Given the description of an element on the screen output the (x, y) to click on. 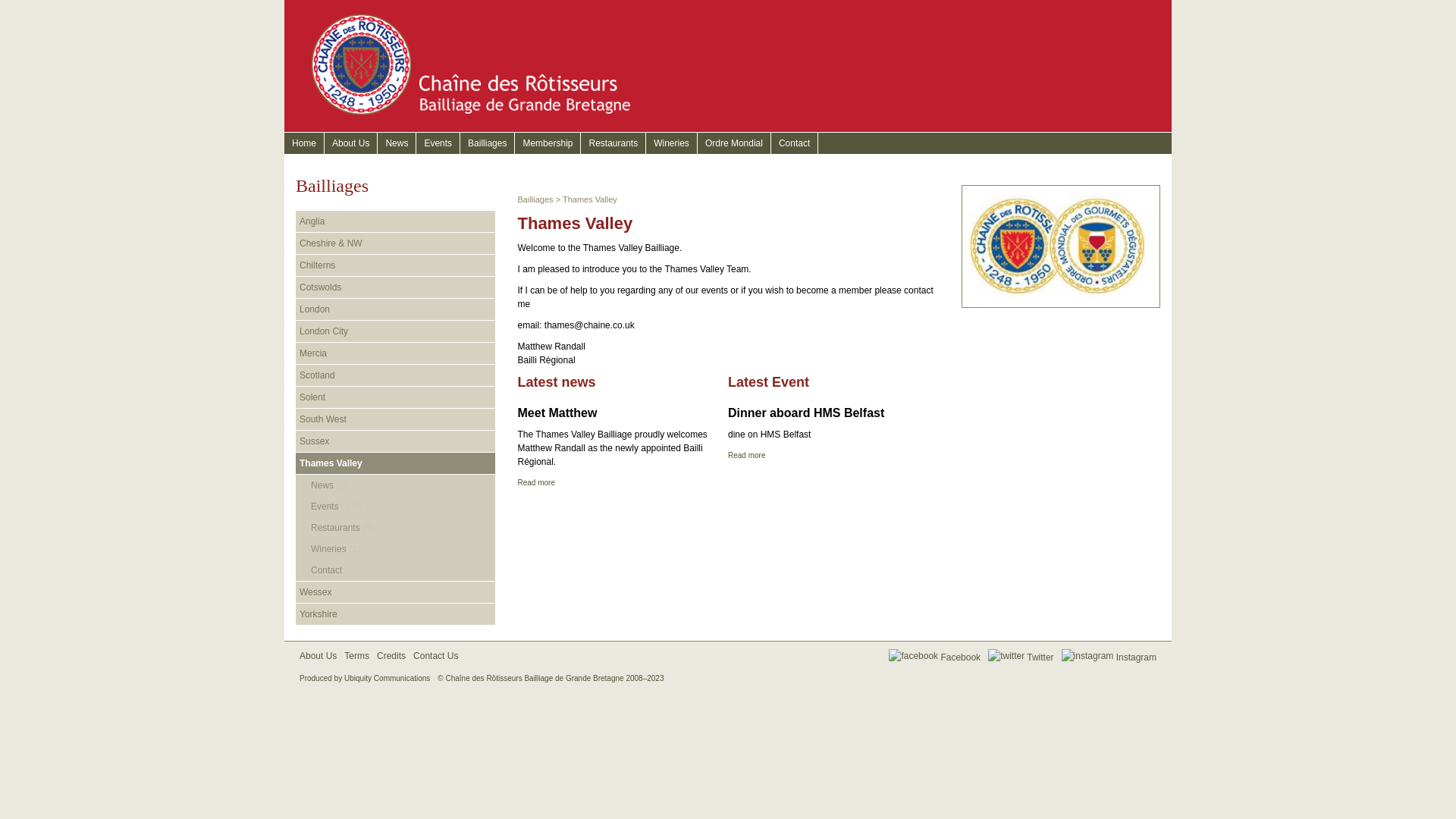
About Us (317, 655)
Bailliages (534, 198)
About Us (350, 142)
Mercia (395, 353)
Yorkshire (395, 614)
Bailliages (486, 142)
Sussex (395, 441)
Wineries (671, 142)
Wessex (395, 592)
Chilterns (395, 265)
